Given the description of an element on the screen output the (x, y) to click on. 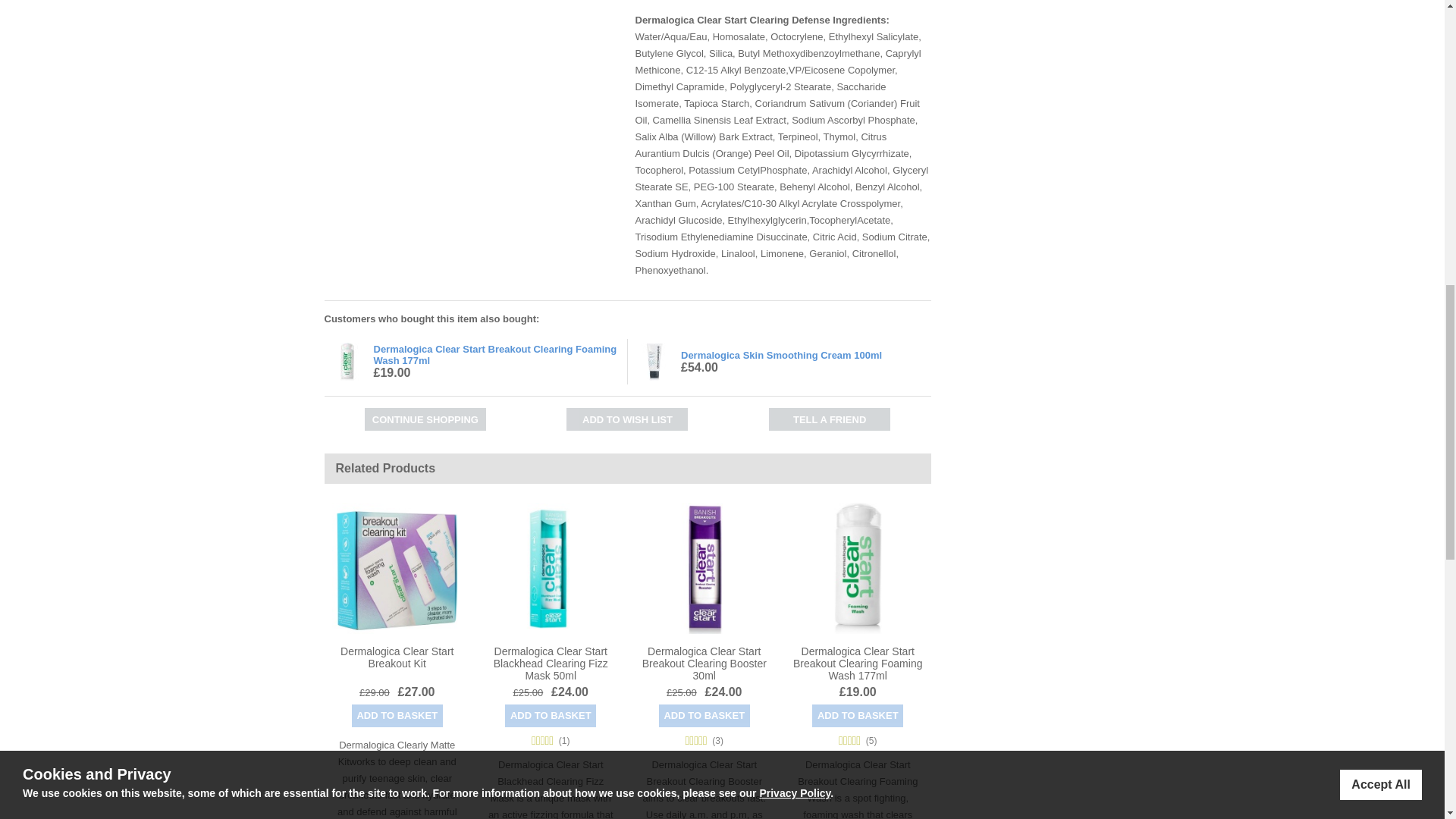
CONTINUE SHOPPING (425, 418)
TELL A FRIEND (828, 418)
ADD TO BASKET (397, 714)
ADD TO BASKET (857, 714)
Dermalogica Clear Start Blackhead Clearing Fizz Mask 50ml (550, 662)
Dermalogica Clear Start Breakout Clearing Foaming Wash 177ml (857, 662)
ADD TO WISH LIST (626, 418)
Dermalogica Clear Start Breakout Clearing Foaming Wash 177ml (493, 354)
Dermalogica Skin Smoothing Cream 100ml (781, 354)
ADD TO BASKET (550, 714)
